Given the description of an element on the screen output the (x, y) to click on. 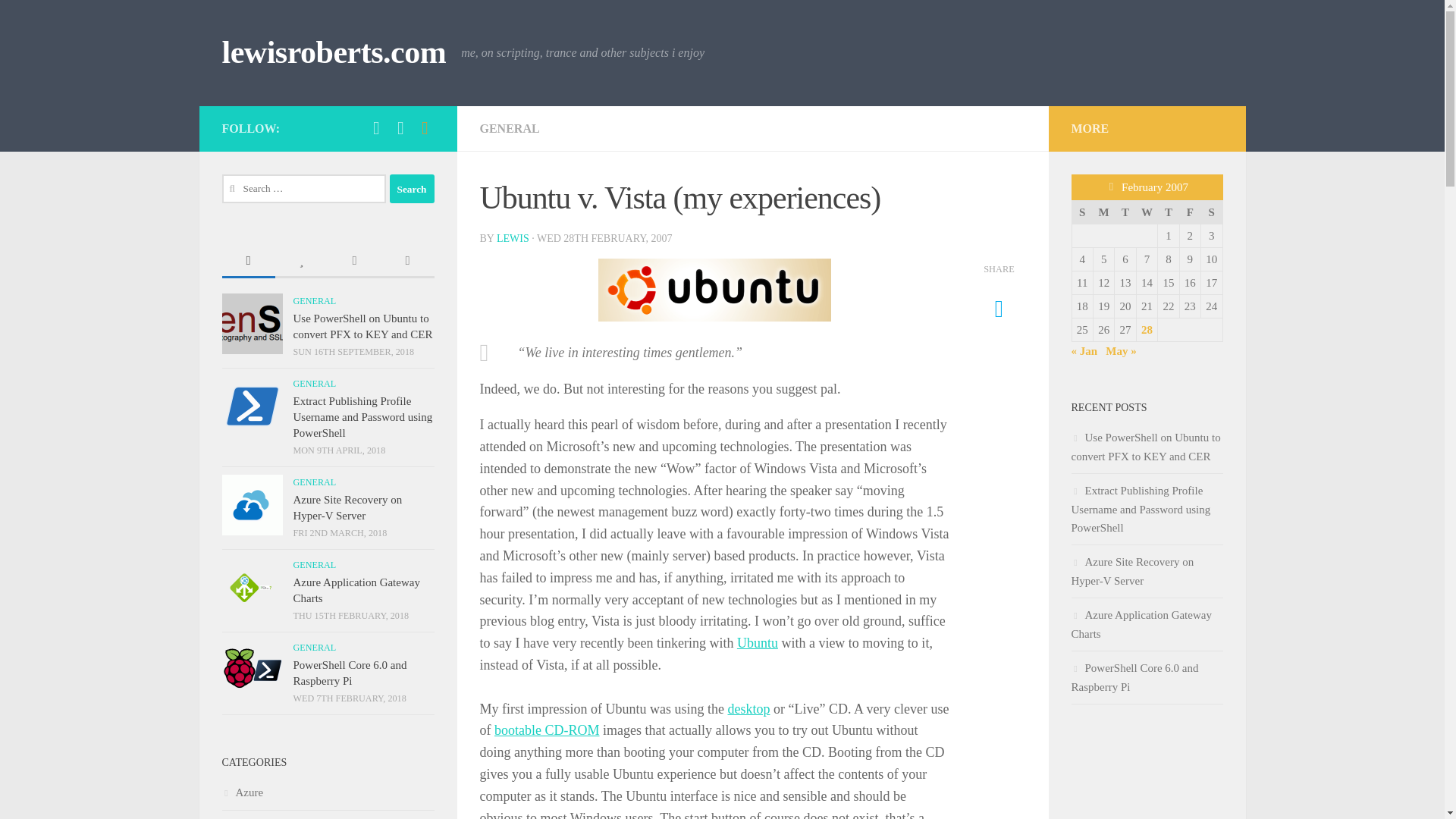
Recent Comments (353, 261)
Search (411, 188)
Recent Posts (248, 261)
Ubuntu (756, 642)
Use PowerShell on Ubuntu to convert PFX to KEY and CER (362, 326)
Search (411, 188)
bootable CD-ROM (547, 729)
desktop (748, 708)
GENERAL (314, 300)
lewisroberts.com (333, 53)
Follow me on Twitter (375, 127)
Check out my Firefox Add-on (423, 127)
Tags (406, 261)
GENERAL (314, 481)
Popular Posts (301, 261)
